Given the description of an element on the screen output the (x, y) to click on. 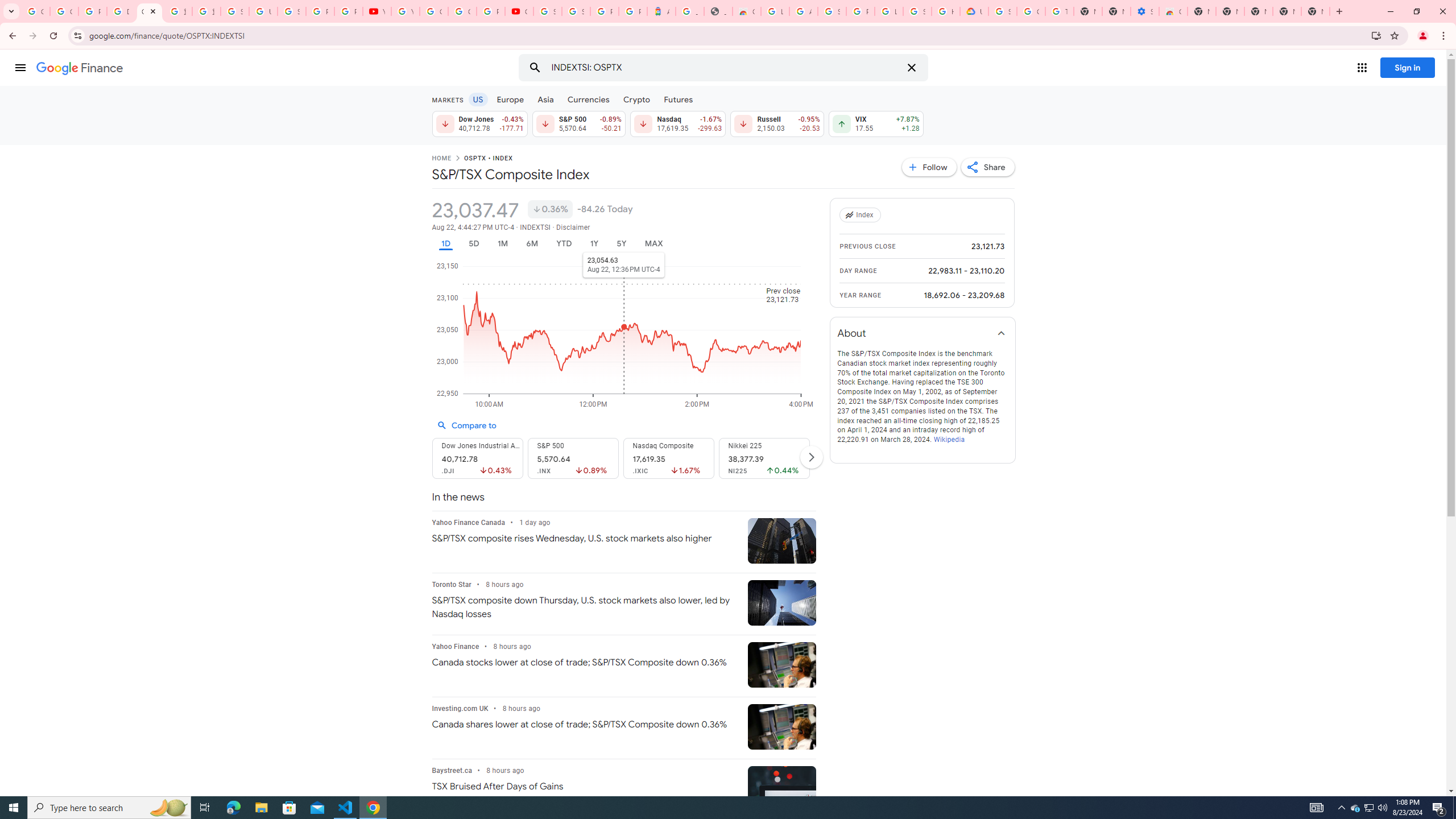
New Tab (1201, 11)
Disclaimer (572, 227)
New Tab (1315, 11)
VIX 17.55 Up by 7.87% +1.28 (875, 123)
Finance (79, 68)
1D (445, 243)
Sign in - Google Accounts (831, 11)
YouTube (377, 11)
Chrome Web Store - Accessibility extensions (1173, 11)
